Given the description of an element on the screen output the (x, y) to click on. 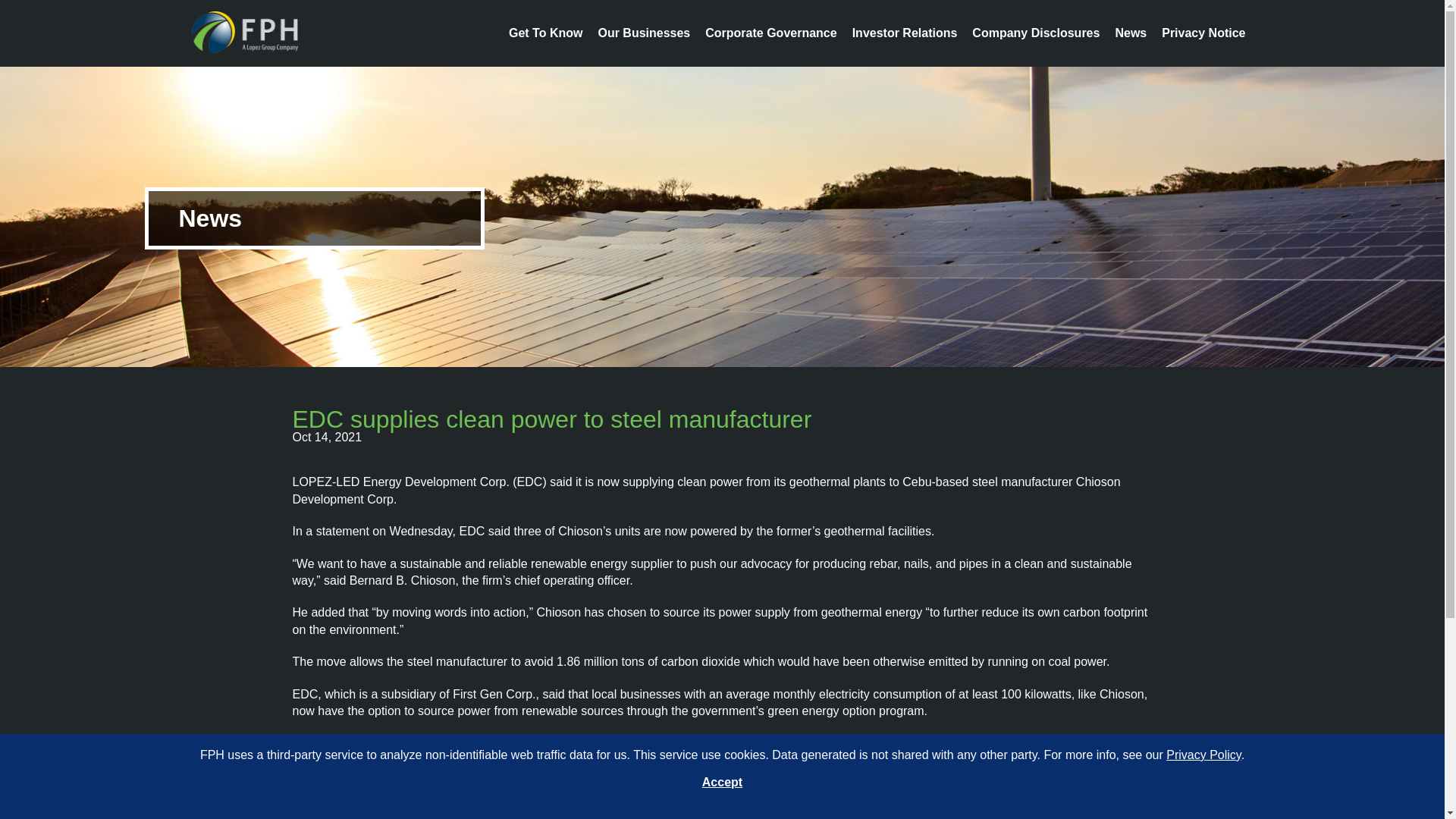
Privacy Notice (1202, 32)
Our Businesses (643, 32)
Company Disclosures (1035, 32)
Get To Know (545, 32)
News (1131, 32)
Corporate Governance (769, 32)
Investor Relations (904, 32)
